Given the description of an element on the screen output the (x, y) to click on. 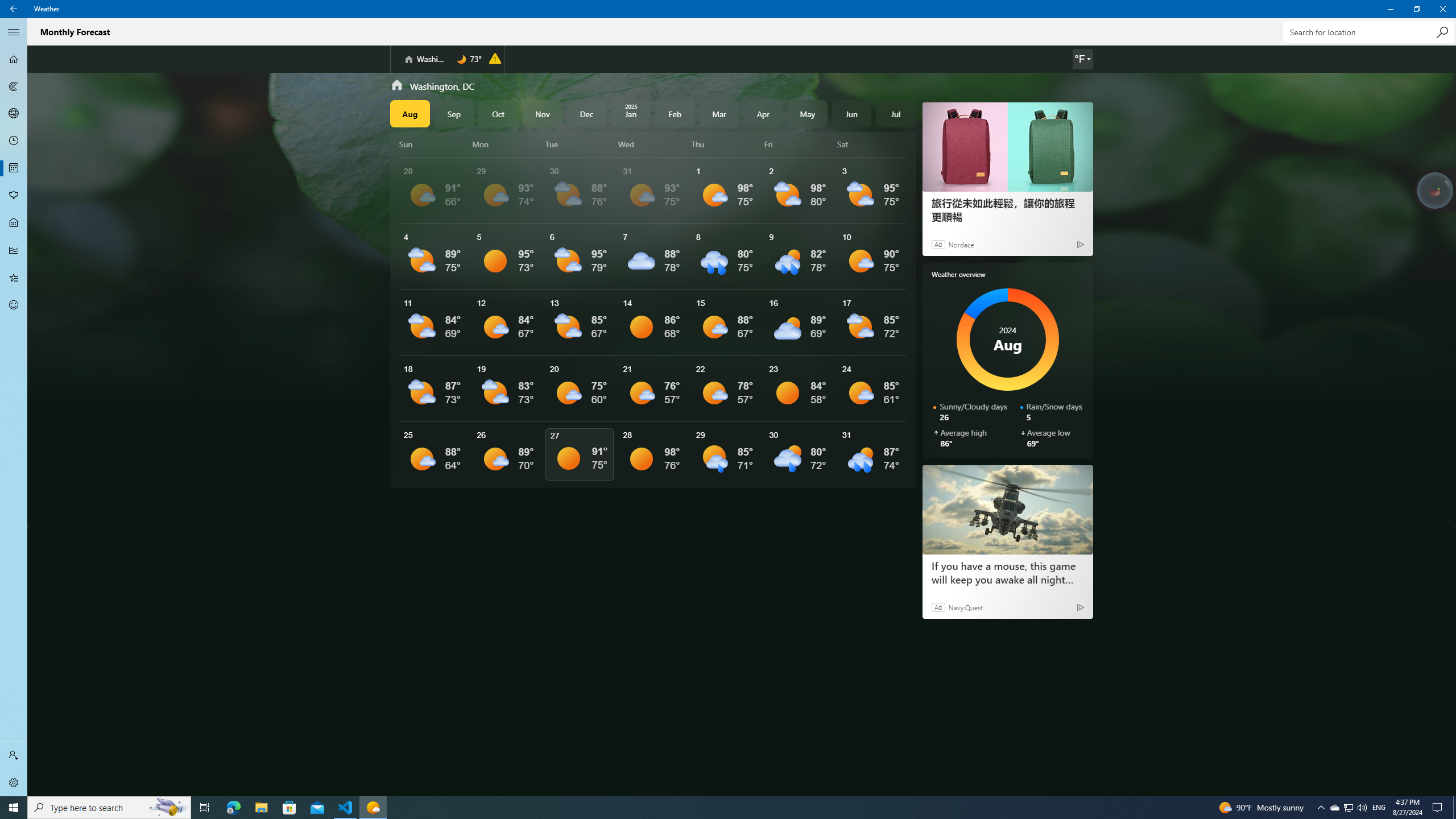
Hourly Forecast - Not Selected (13, 140)
Send Feedback - Not Selected (13, 304)
Historical Weather - Not Selected (13, 249)
Pollen - Not Selected (13, 195)
Running applications (706, 807)
Life - Not Selected (13, 222)
Forecast - Not Selected (13, 58)
Monthly Forecast - Not Selected (13, 167)
Favorites - Not Selected (13, 277)
Sign in (13, 755)
